Given the description of an element on the screen output the (x, y) to click on. 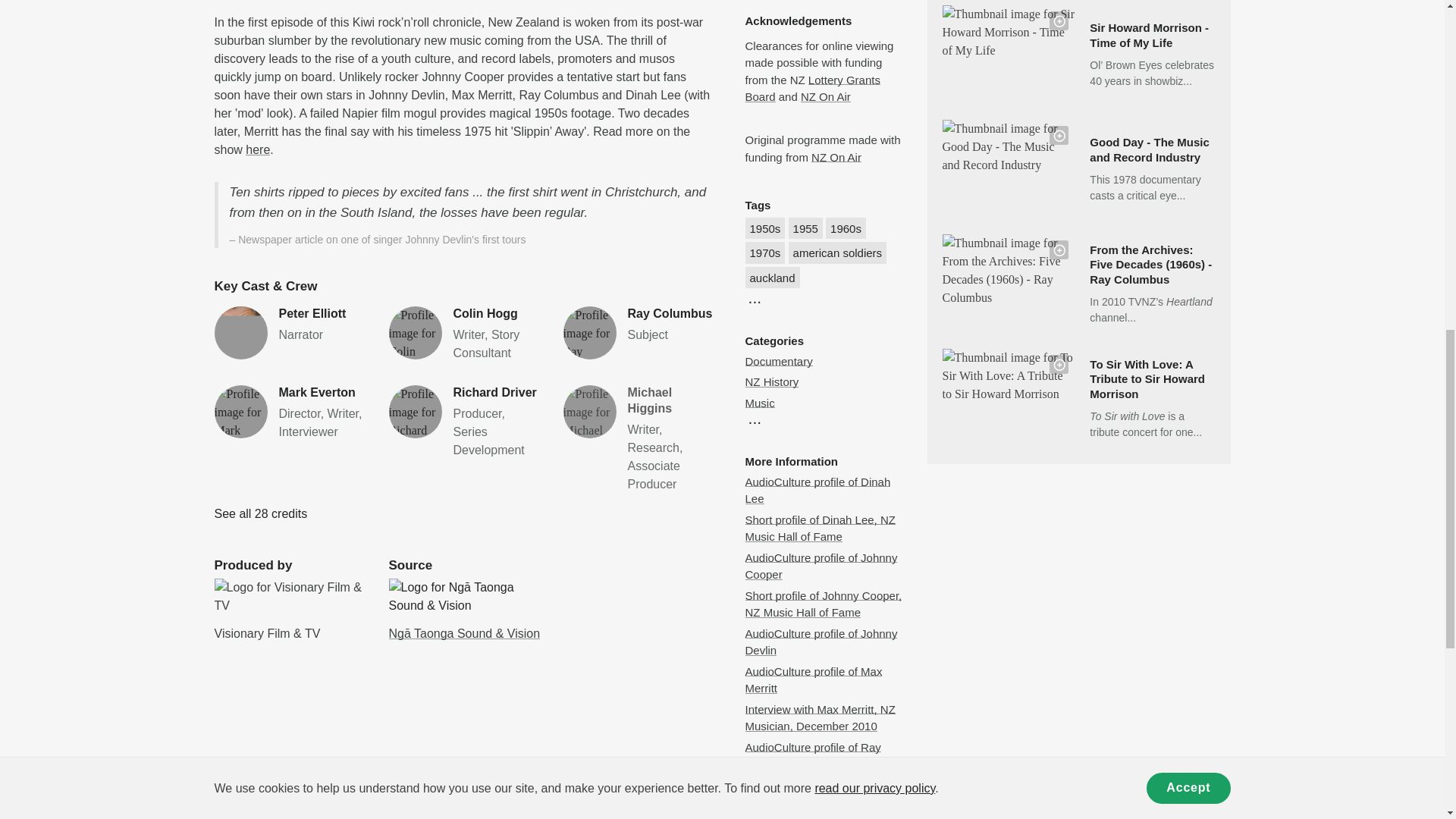
See all 28 credits (464, 334)
NZ On Air (260, 513)
1960s (464, 421)
NZ On Air (835, 156)
here (289, 332)
1955 (845, 228)
